Given the description of an element on the screen output the (x, y) to click on. 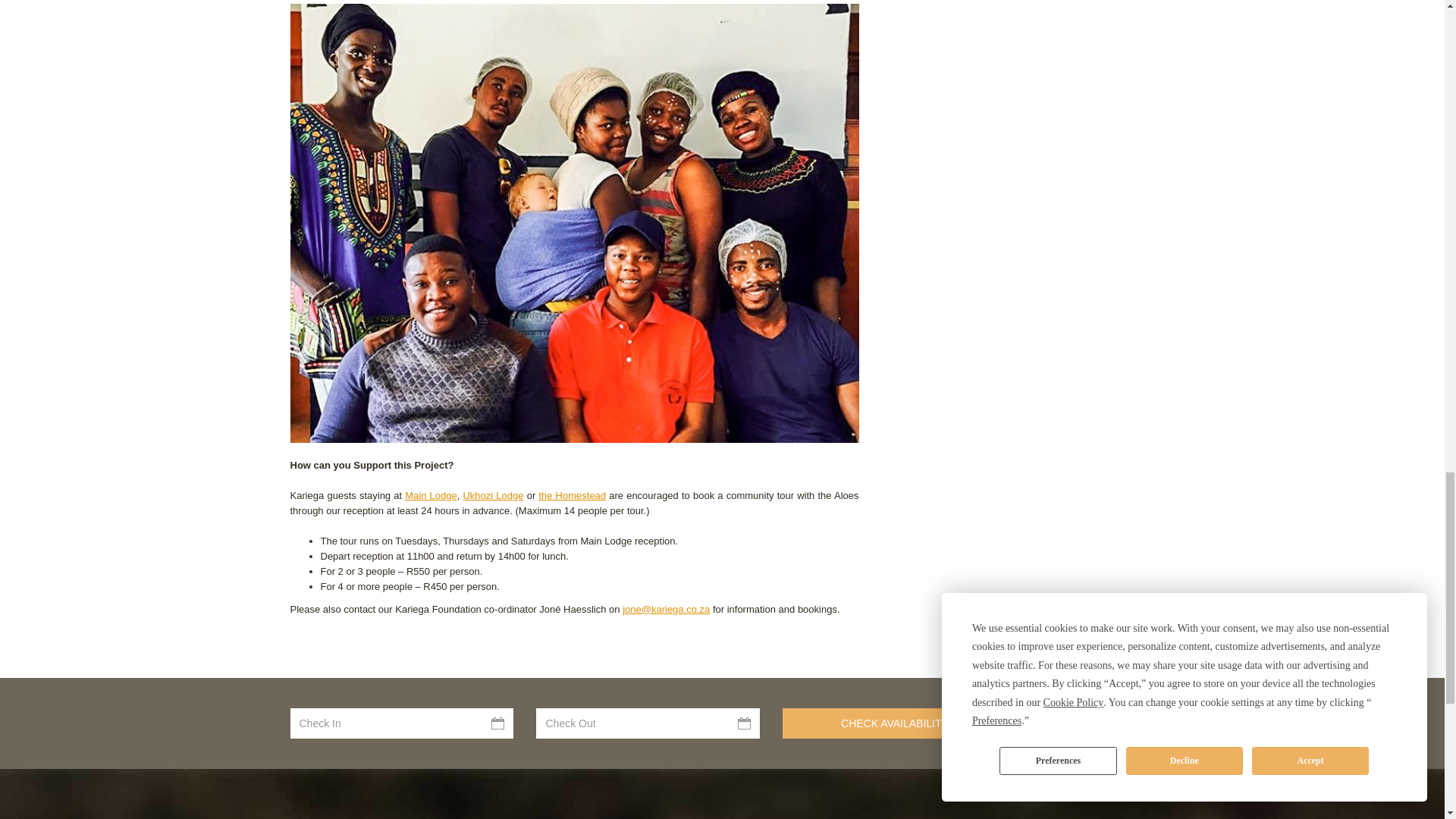
Ukhozi Lodge (492, 495)
The Homestead (571, 495)
Main Lodge (430, 495)
Check Availability (894, 723)
